Given the description of an element on the screen output the (x, y) to click on. 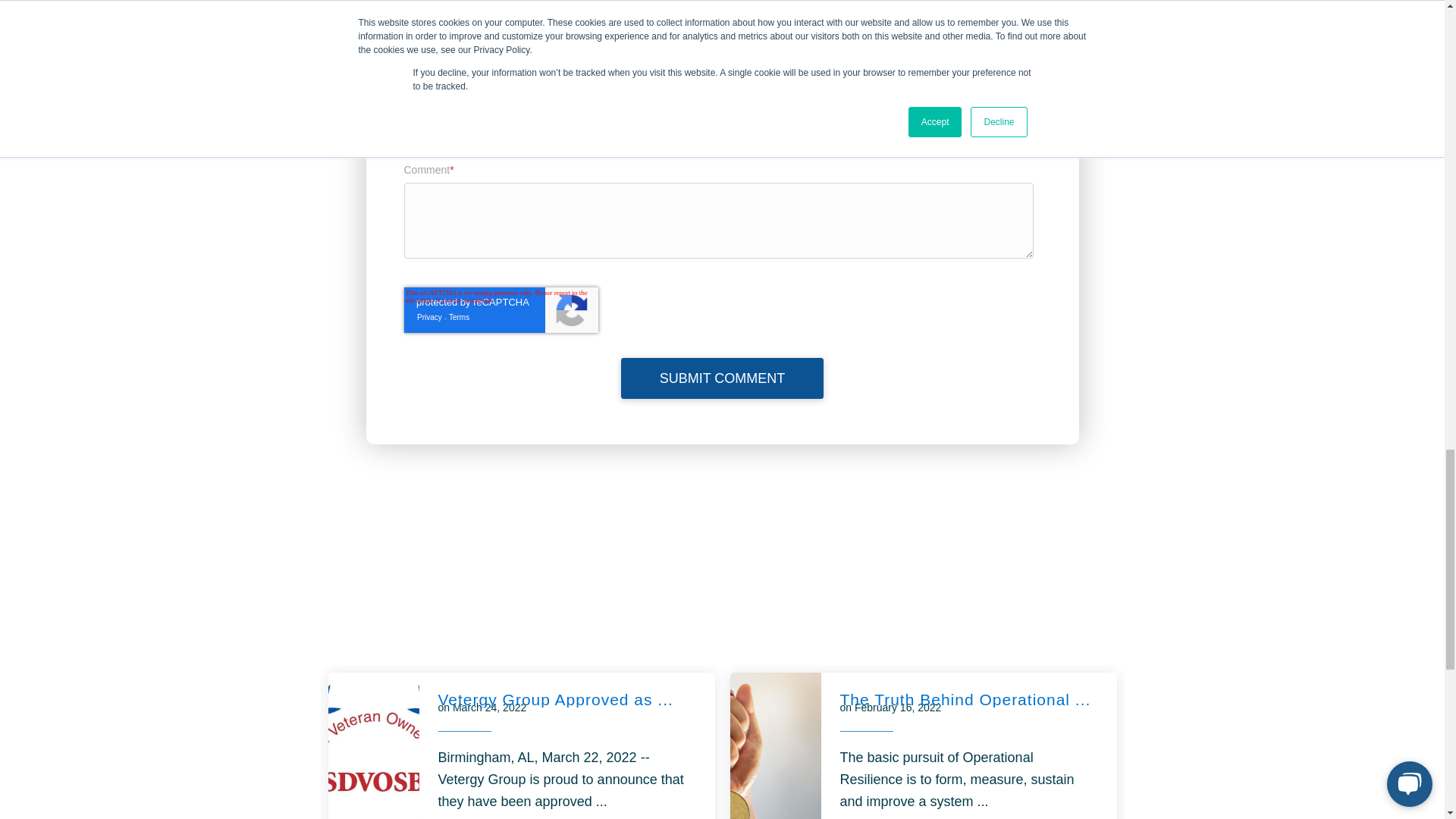
Submit Comment (722, 377)
reCAPTCHA (499, 309)
